Given the description of an element on the screen output the (x, y) to click on. 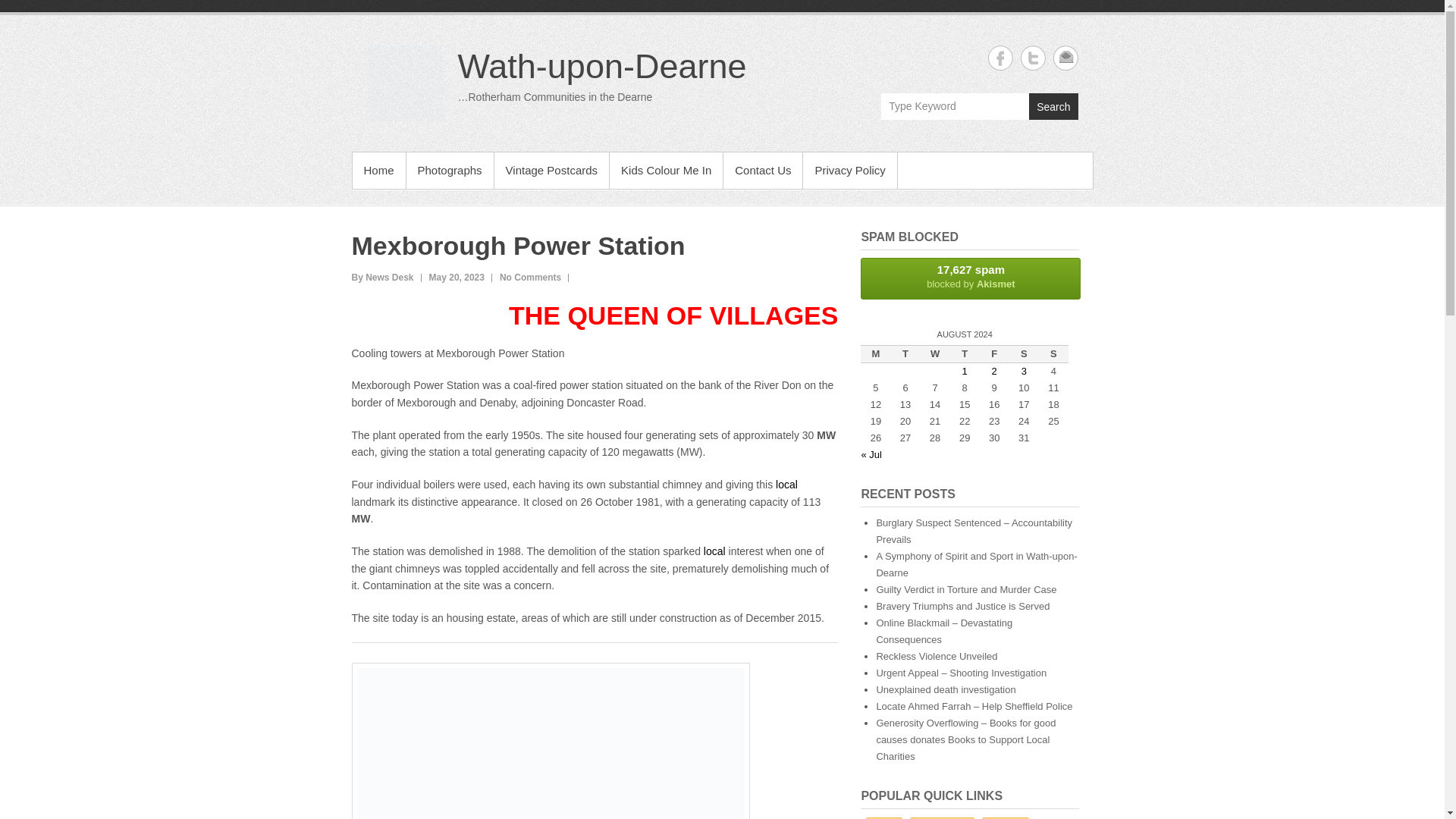
Thursday (964, 353)
View all articles about local here (714, 551)
Search (1053, 106)
Vintage Postcards (551, 170)
Friday (994, 353)
Tuesday (904, 353)
Guilty Verdict in Torture and Murder Case (966, 589)
Contact Us (762, 170)
Monday (874, 353)
Wath-upon-Dearne Email (1064, 57)
Wath-upon-Dearne Facebook (999, 57)
local (786, 484)
Type Keyword (955, 105)
Wath-upon-Dearne on Twitter (1032, 57)
Home (378, 170)
